Given the description of an element on the screen output the (x, y) to click on. 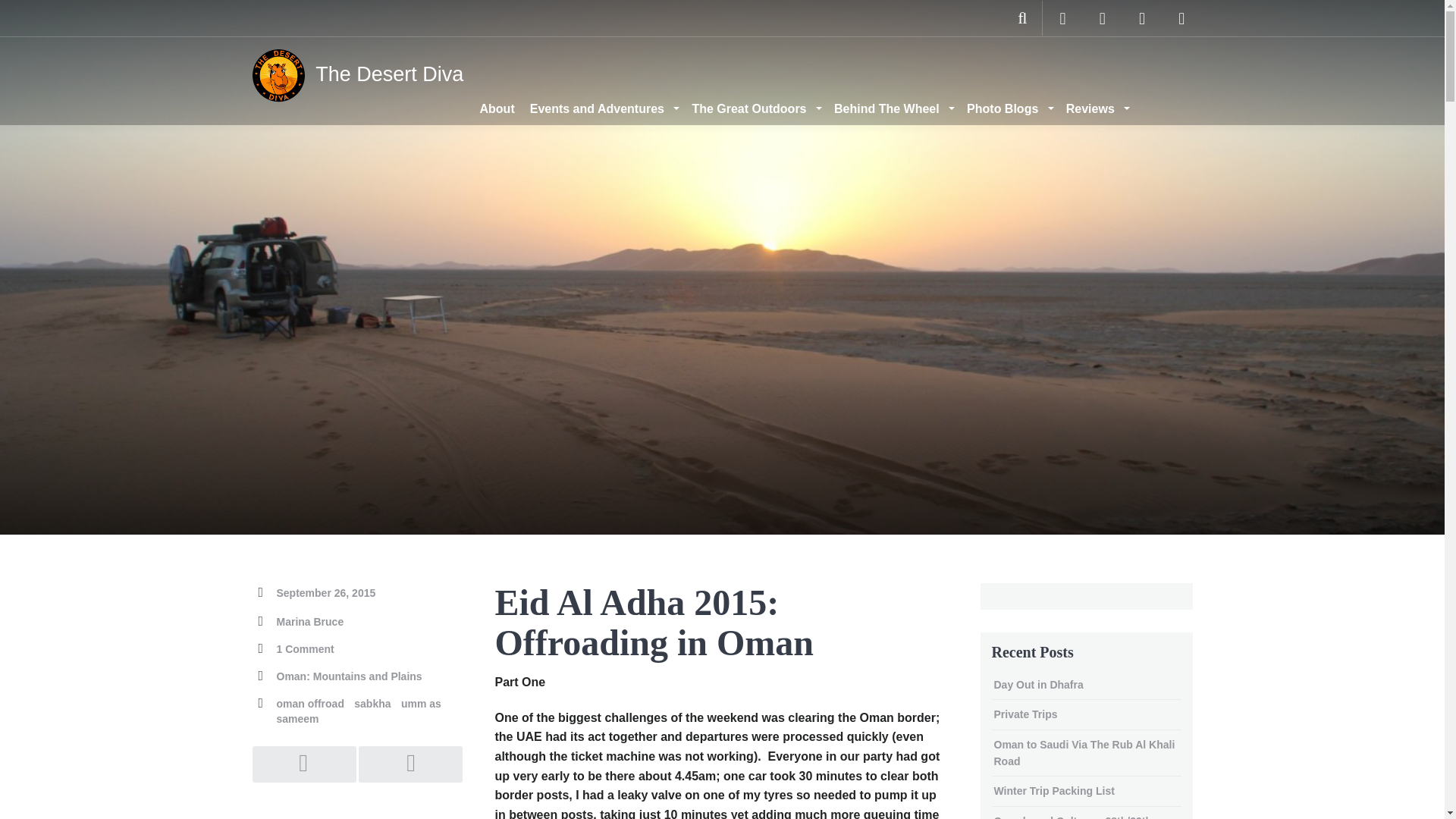
The Great Outdoors (755, 108)
Behind The Wheel (893, 108)
 The Desert Diva (357, 63)
Events and Adventures (603, 108)
About (496, 108)
About (496, 108)
Events and Adventures (603, 108)
The Desert Diva (357, 63)
The Great Outdoors (755, 108)
